Given the description of an element on the screen output the (x, y) to click on. 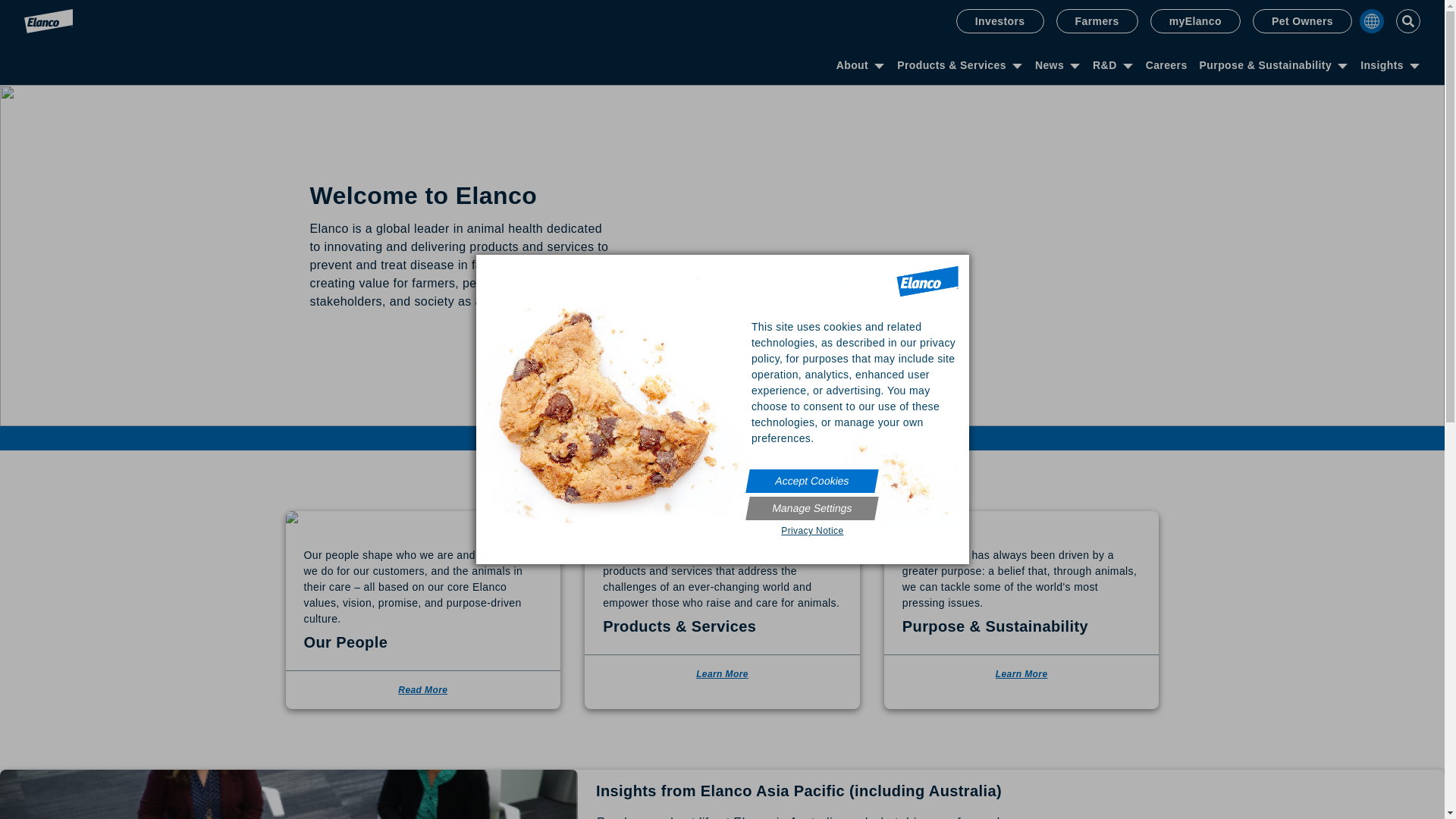
Learn More Element type: text (721, 673)
Accept Cookies Element type: text (810, 480)
Learn More Element type: text (1021, 673)
Privacy Notice Element type: text (812, 530)
Careers Element type: text (1166, 66)
Insights Element type: text (1381, 66)
Products & Services Element type: text (951, 66)
myElanco Element type: text (1195, 21)
Pet Owners Element type: text (1302, 21)
Farmers Element type: text (1097, 21)
R&D Element type: text (1104, 66)
Manage Settings Element type: text (810, 508)
Read More Element type: text (422, 689)
Toggle Search Element type: hover (1408, 21)
Purpose & Sustainability Element type: text (1265, 66)
News Element type: text (1049, 66)
About Element type: text (852, 66)
Country Selector Element type: hover (1371, 21)
Investors Element type: text (1000, 21)
